Given the description of an element on the screen output the (x, y) to click on. 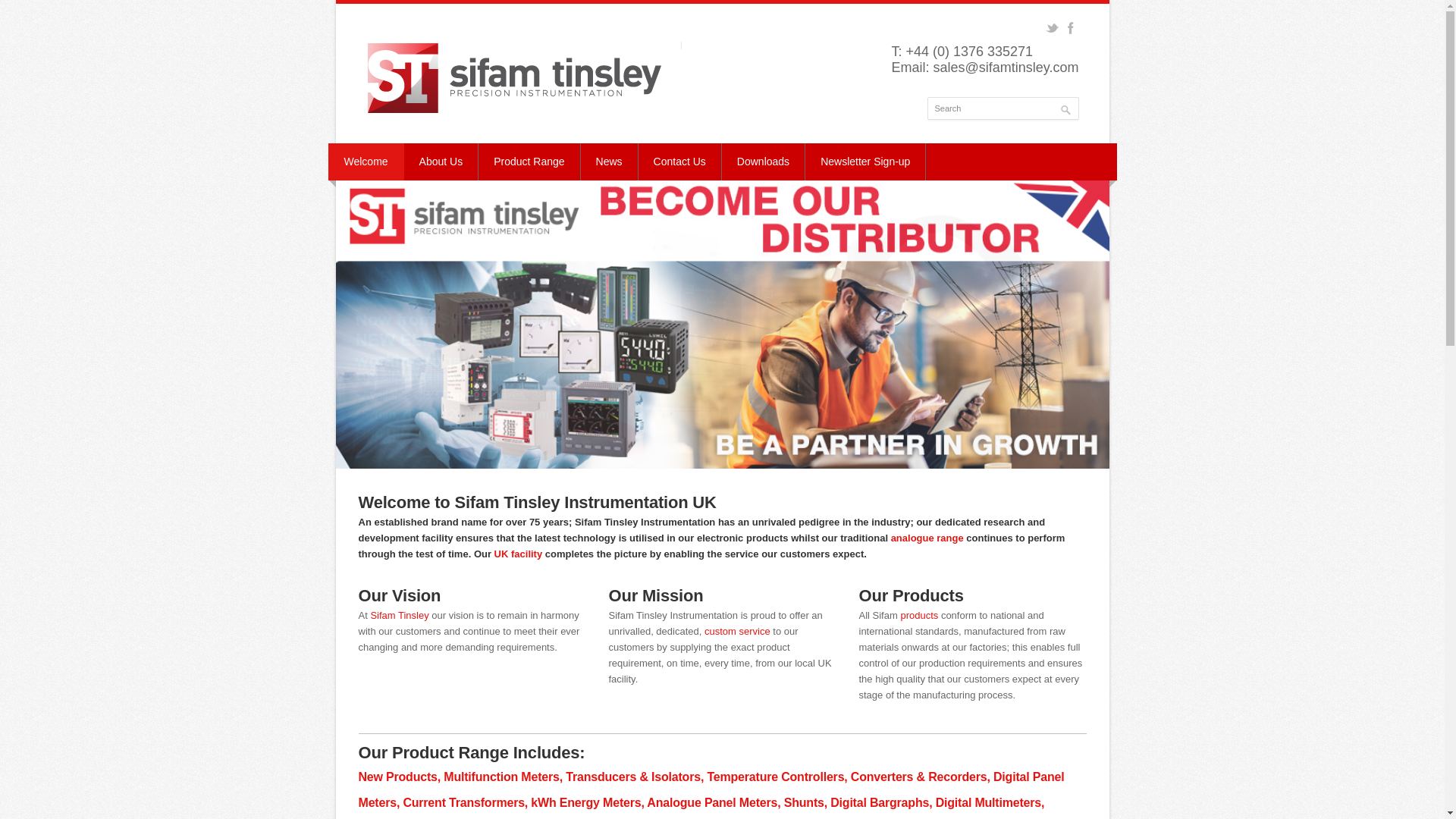
Twitter (1051, 28)
Product Range (529, 161)
twitter (1051, 28)
News (609, 161)
About Us (441, 161)
Welcome (365, 161)
Downloads (763, 161)
Facebook (1070, 28)
Newsletter Sign-up (865, 161)
facebook (1070, 28)
Search (1002, 108)
Search (1002, 108)
Contact Us (680, 161)
